Given the description of an element on the screen output the (x, y) to click on. 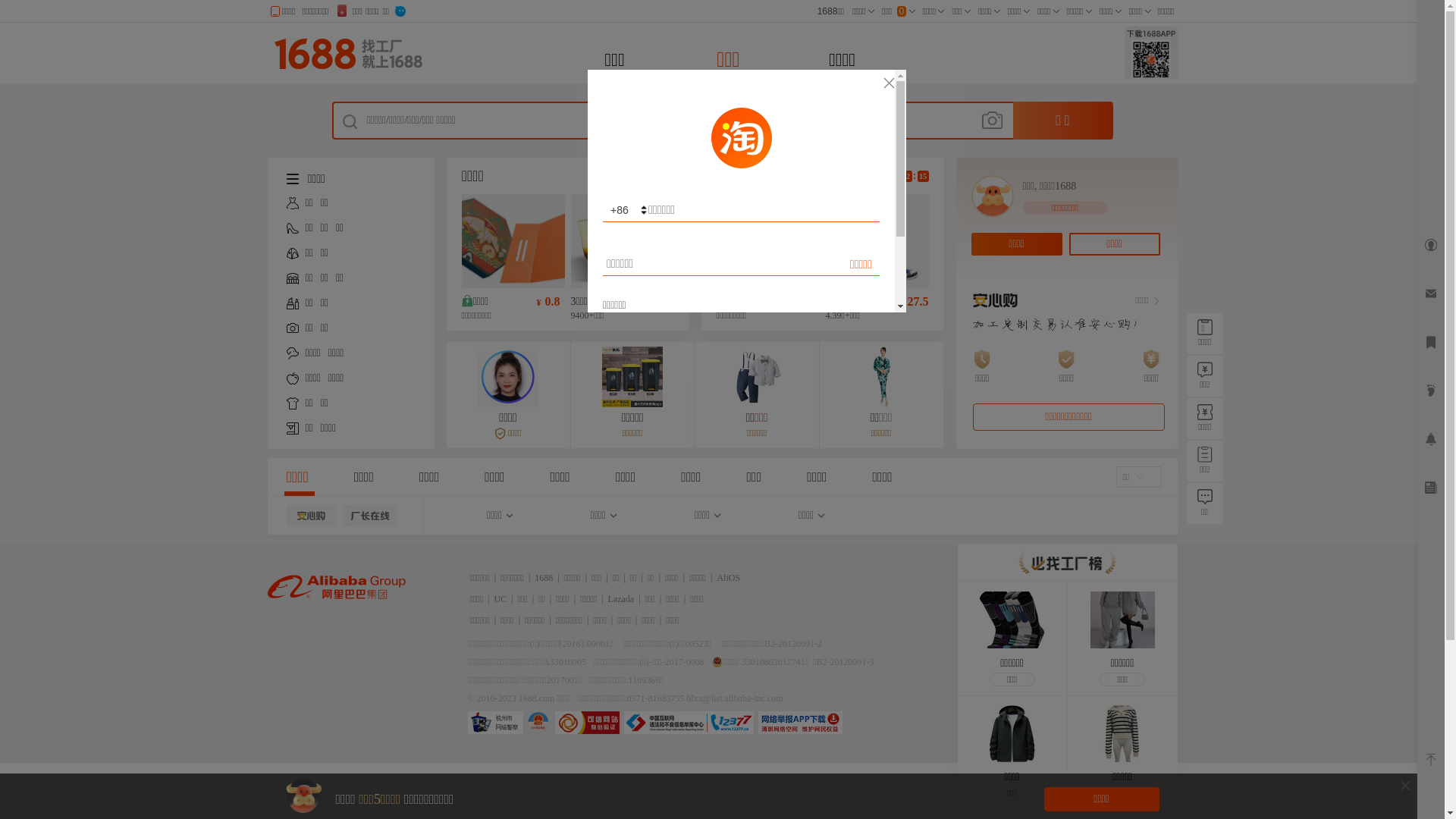
AliOS Element type: text (728, 577)
UC Element type: text (499, 598)
1688 Element type: text (543, 577)
Lazada Element type: text (621, 598)
